Given the description of an element on the screen output the (x, y) to click on. 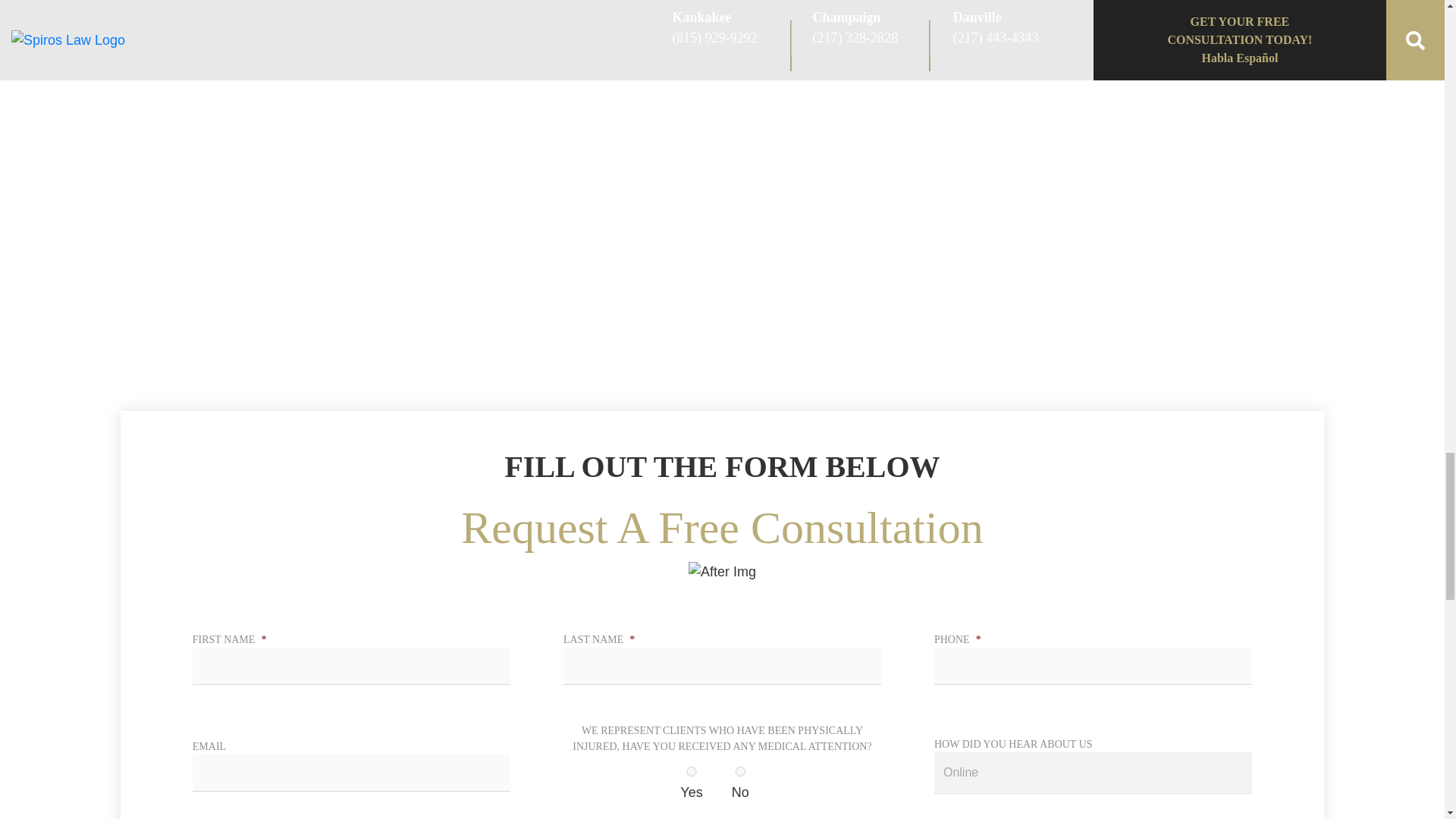
No (740, 771)
Yes (690, 771)
